Given the description of an element on the screen output the (x, y) to click on. 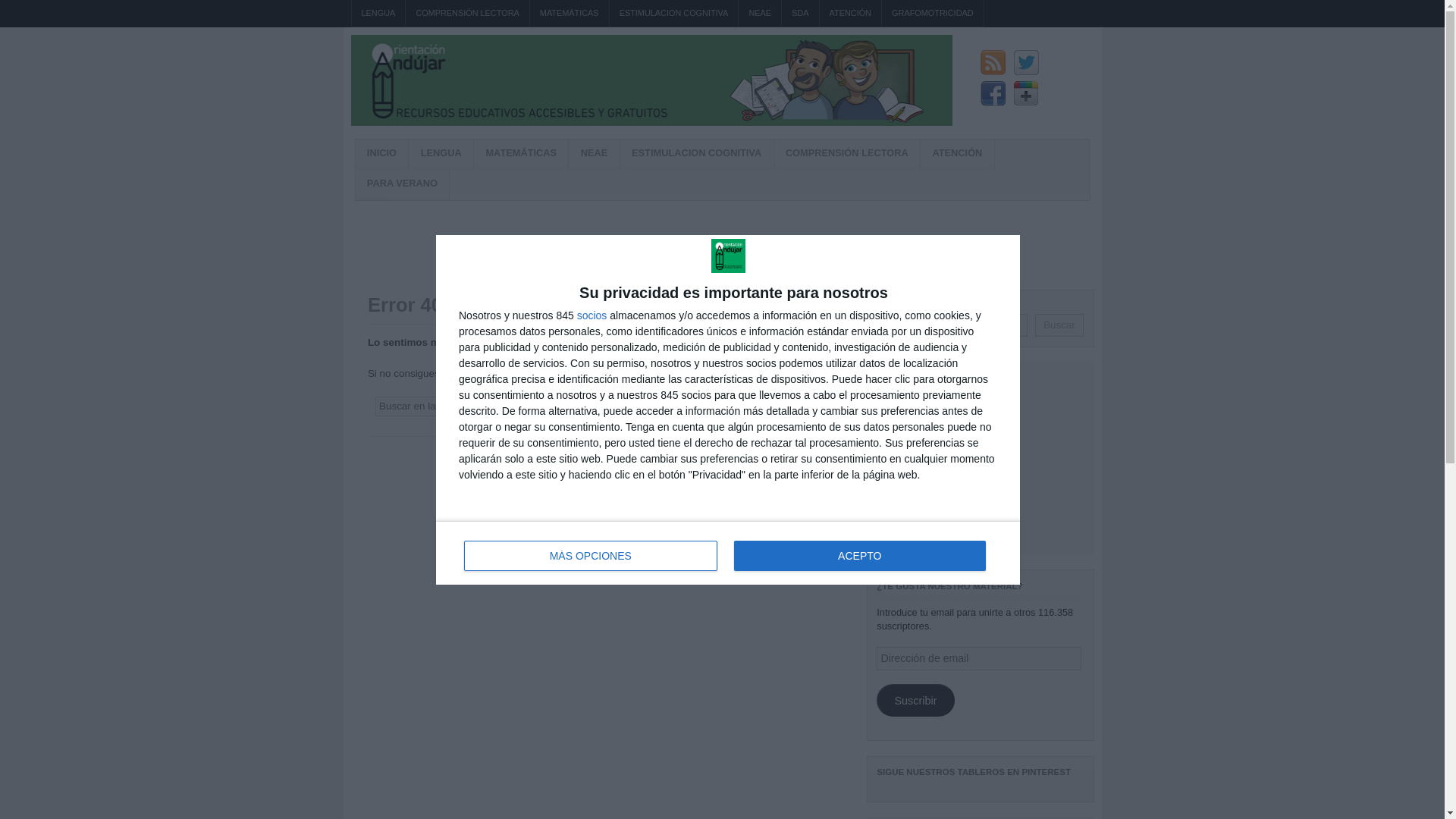
Recursos educativos (651, 122)
Buscar (802, 406)
Materiales educativos (381, 154)
NEAE (759, 13)
ACEPTO (859, 554)
LENGUA (379, 13)
SDA (799, 13)
socios (591, 314)
ESTIMULACION COGNITIVA (674, 13)
Materiales de lengua (379, 13)
